Given the description of an element on the screen output the (x, y) to click on. 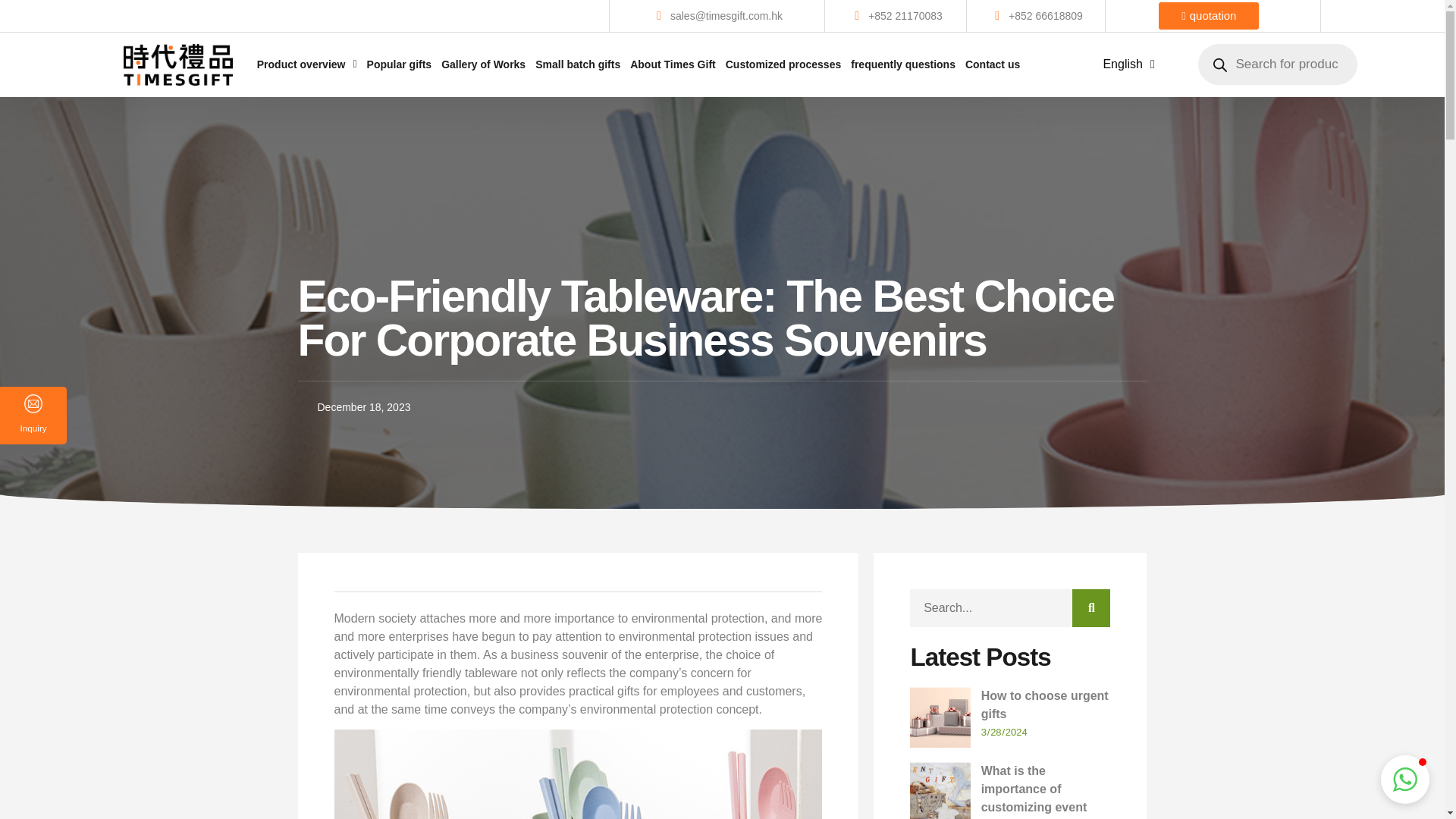
quotation (1182, 15)
December 18, 2023 (722, 406)
Contact us (992, 64)
frequently questions (902, 64)
Popular gifts (399, 64)
English (1128, 63)
Customized processes (783, 64)
Gallery of Works (483, 64)
English (1130, 63)
Latest Posts (1009, 657)
Product overview (306, 52)
Small batch gifts (577, 64)
About Times Gift (673, 64)
quotation (1208, 15)
